Given the description of an element on the screen output the (x, y) to click on. 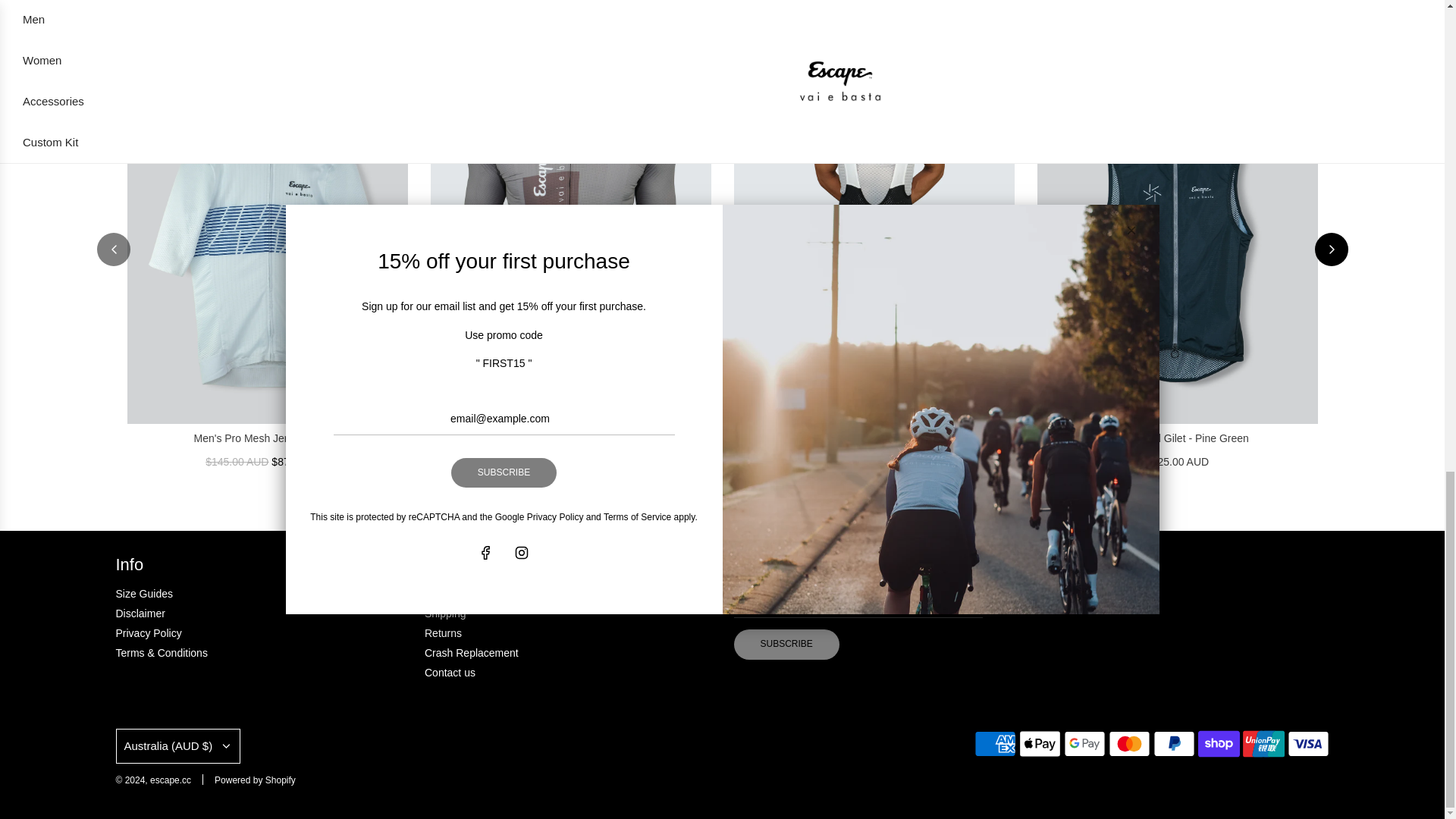
Men's Team Jersey - Taupe (570, 213)
Men's Pro Bibs 2.0 - Black (873, 213)
